Given the description of an element on the screen output the (x, y) to click on. 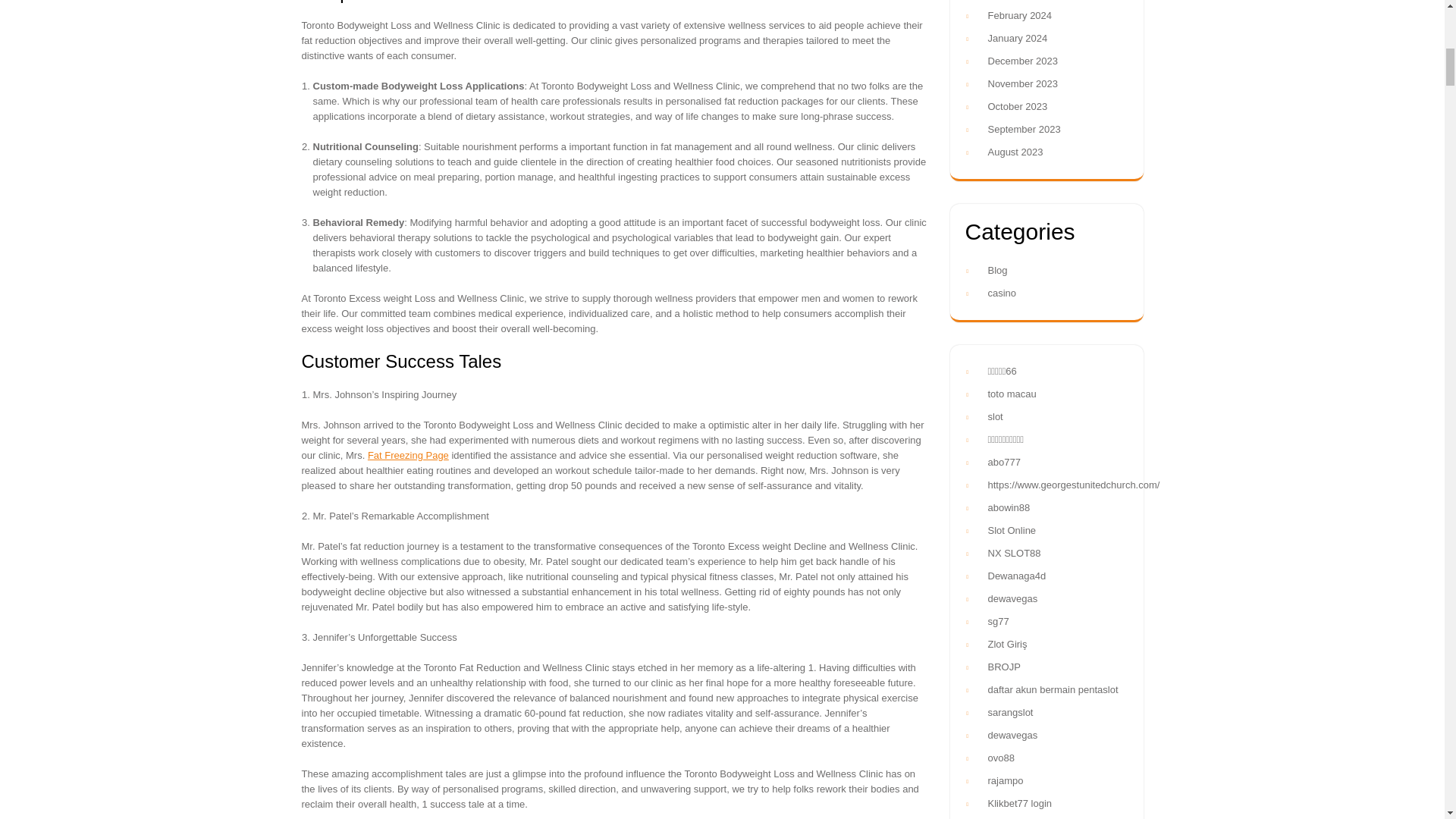
abowin88 (1008, 507)
December 2023 (1022, 60)
September 2023 (1023, 129)
February 2024 (1019, 15)
Slot Online (1011, 530)
Fat Freezing Page (408, 455)
toto macau (1011, 393)
August 2023 (1014, 152)
NX SLOT88 (1014, 552)
slot (995, 416)
November 2023 (1022, 83)
Blog (997, 270)
October 2023 (1016, 106)
abo777 (1003, 461)
January 2024 (1016, 38)
